Given the description of an element on the screen output the (x, y) to click on. 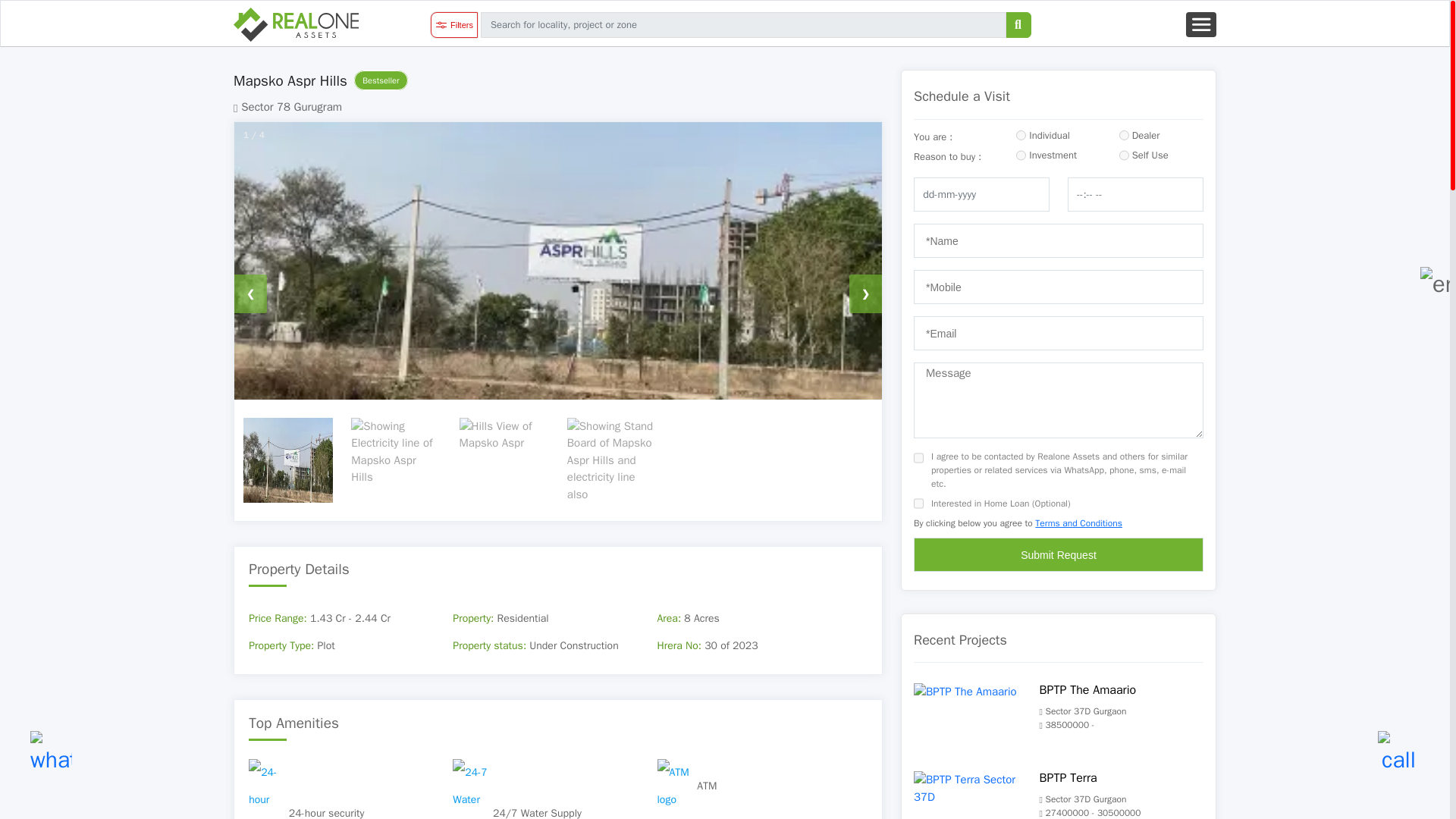
yes (918, 457)
Filters (453, 24)
Sector 78 Gurugram (287, 106)
Investment (1021, 155)
Individual (1021, 135)
Dealer (1124, 135)
Submit Request (1059, 554)
on (918, 503)
Self Use (1124, 155)
